Given the description of an element on the screen output the (x, y) to click on. 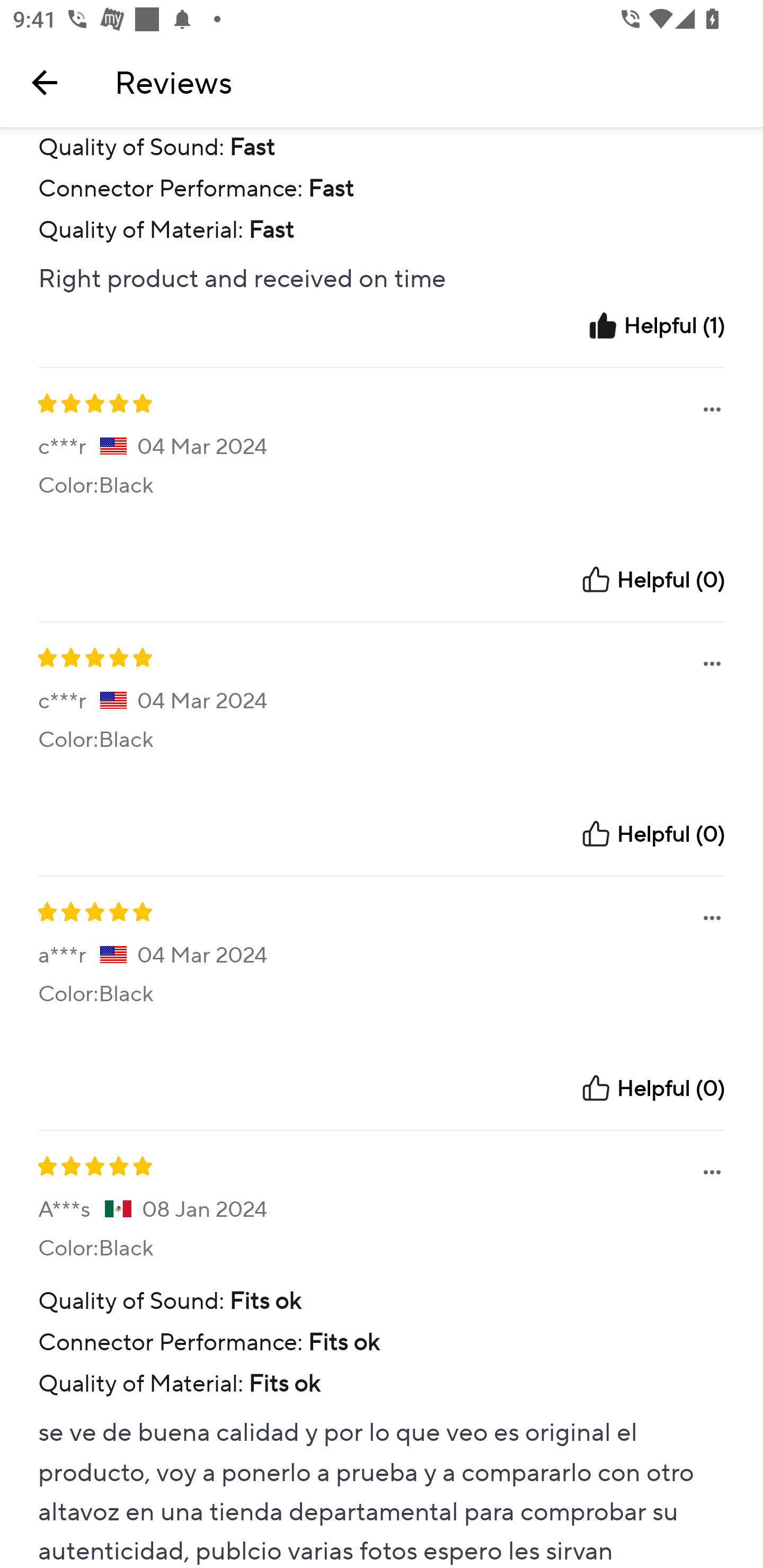
Navigate up (44, 82)
Helpful (1) (655, 324)
Helpful (0) (651, 578)
Helpful (0) (651, 833)
Helpful (0) (651, 1087)
